Given the description of an element on the screen output the (x, y) to click on. 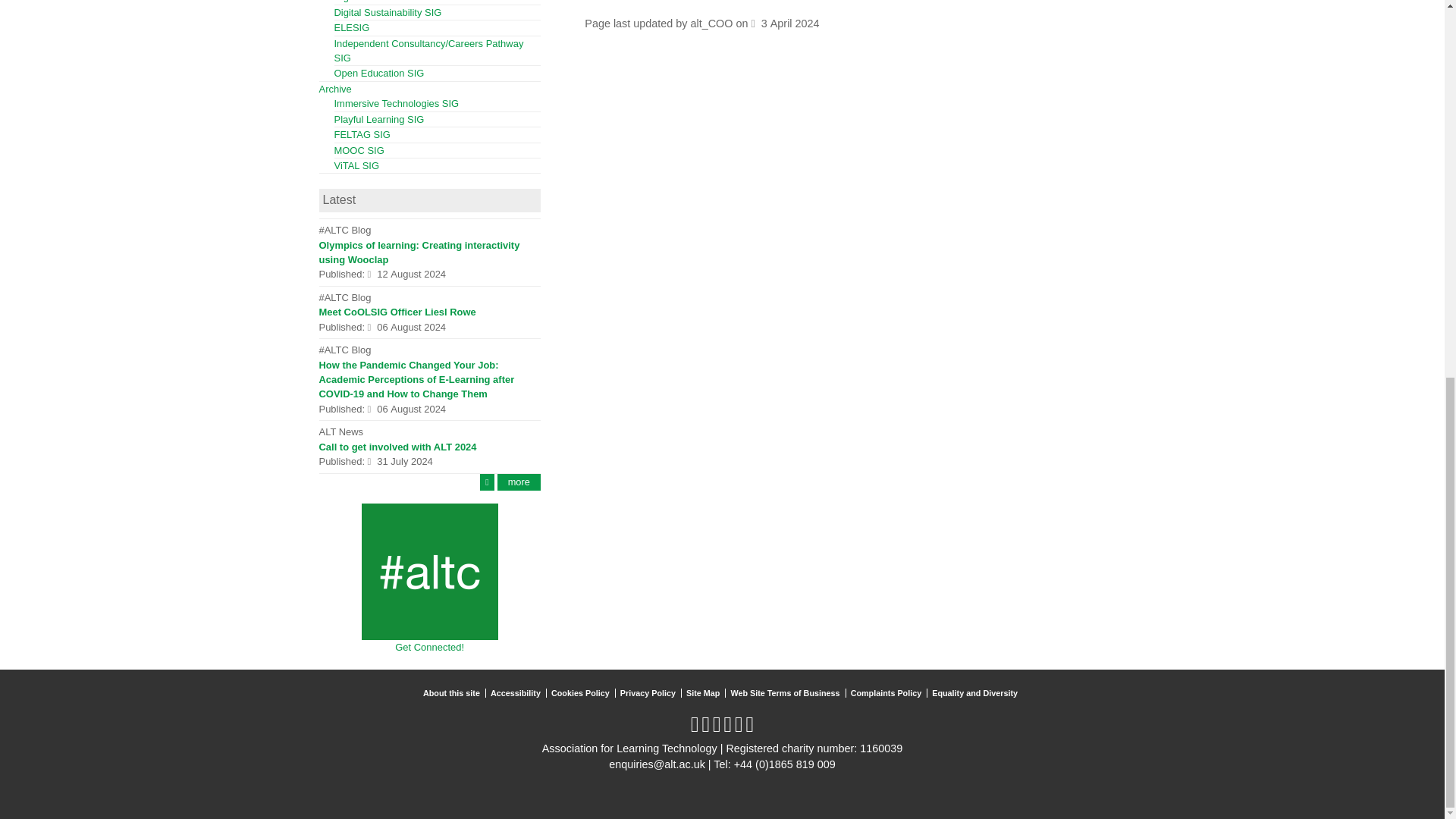
Complaints Policy and Procedure (888, 692)
Link to an autogenerated site map of the whole site (704, 692)
Games and Learning SIG (378, 119)
About this site (454, 692)
Use of Cookies (582, 692)
See more activity (518, 482)
Information about the accessibility of this web site (518, 692)
Equality and Diversity Policy Statement (976, 692)
